Given the description of an element on the screen output the (x, y) to click on. 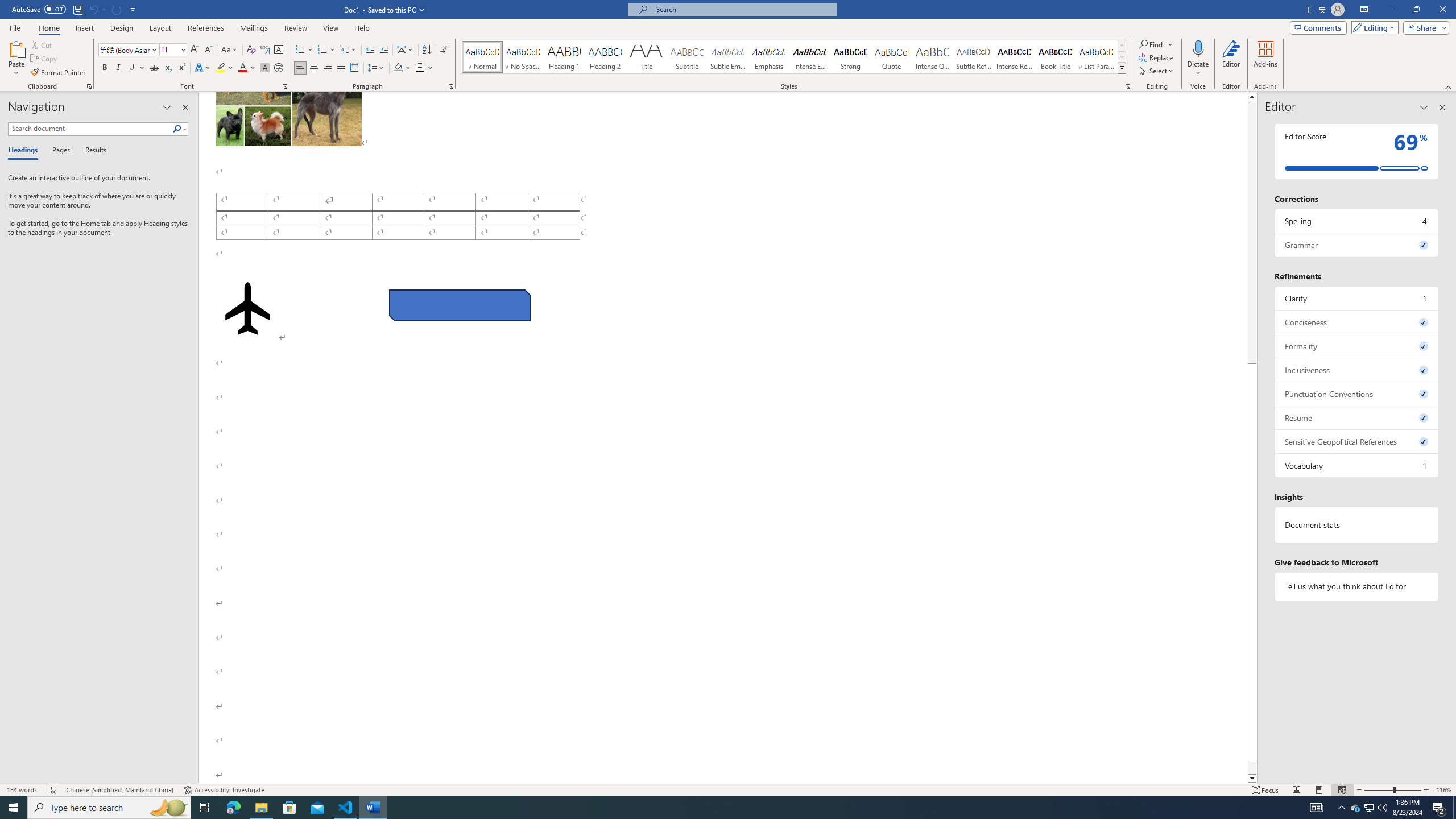
Can't Undo (92, 9)
